Given the description of an element on the screen output the (x, y) to click on. 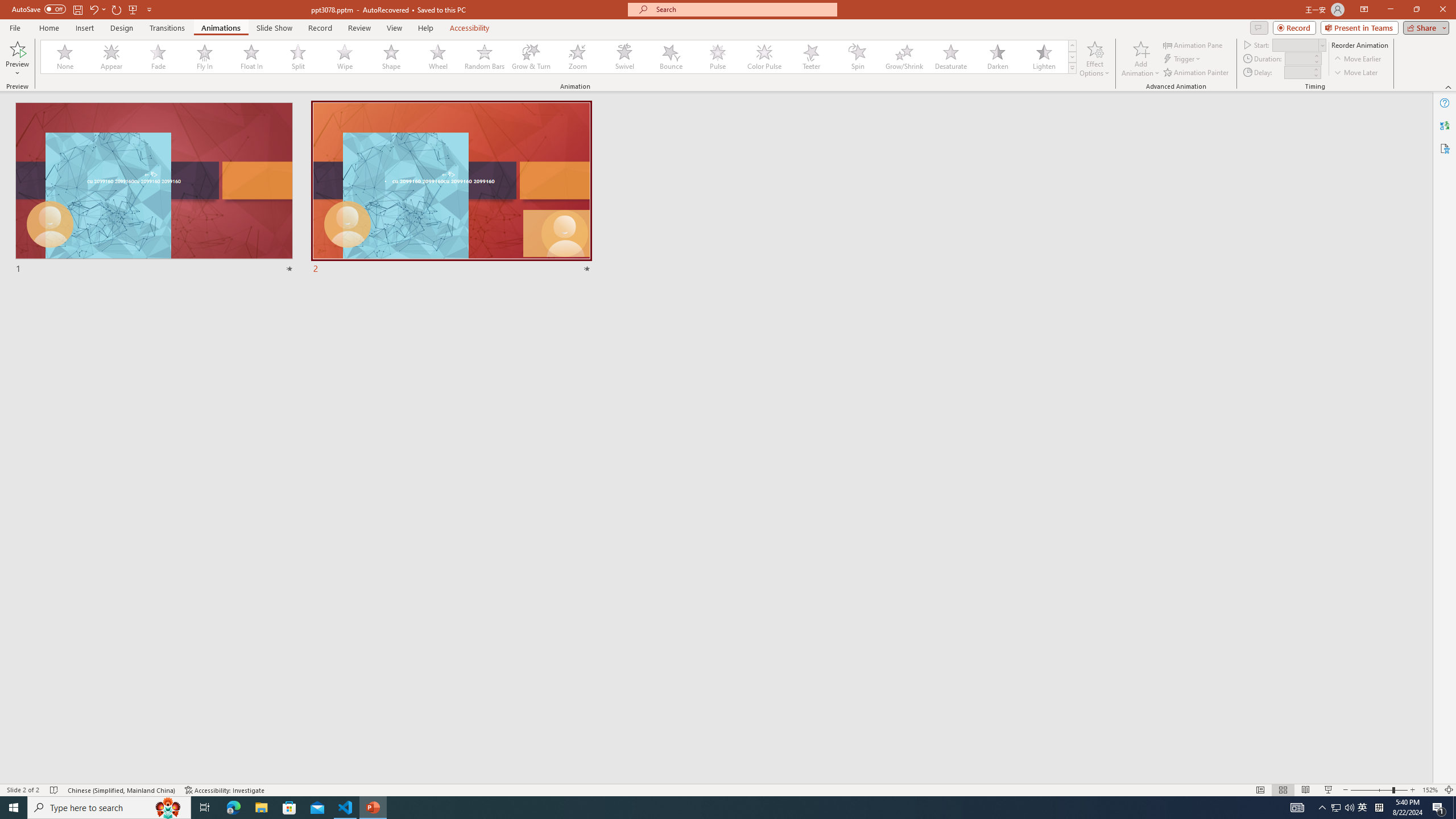
Animation Duration (1298, 58)
Fly In (205, 56)
AutomationID: AnimationGallery (558, 56)
Bounce (670, 56)
Color Pulse (764, 56)
Spin (857, 56)
Swivel (624, 56)
